Given the description of an element on the screen output the (x, y) to click on. 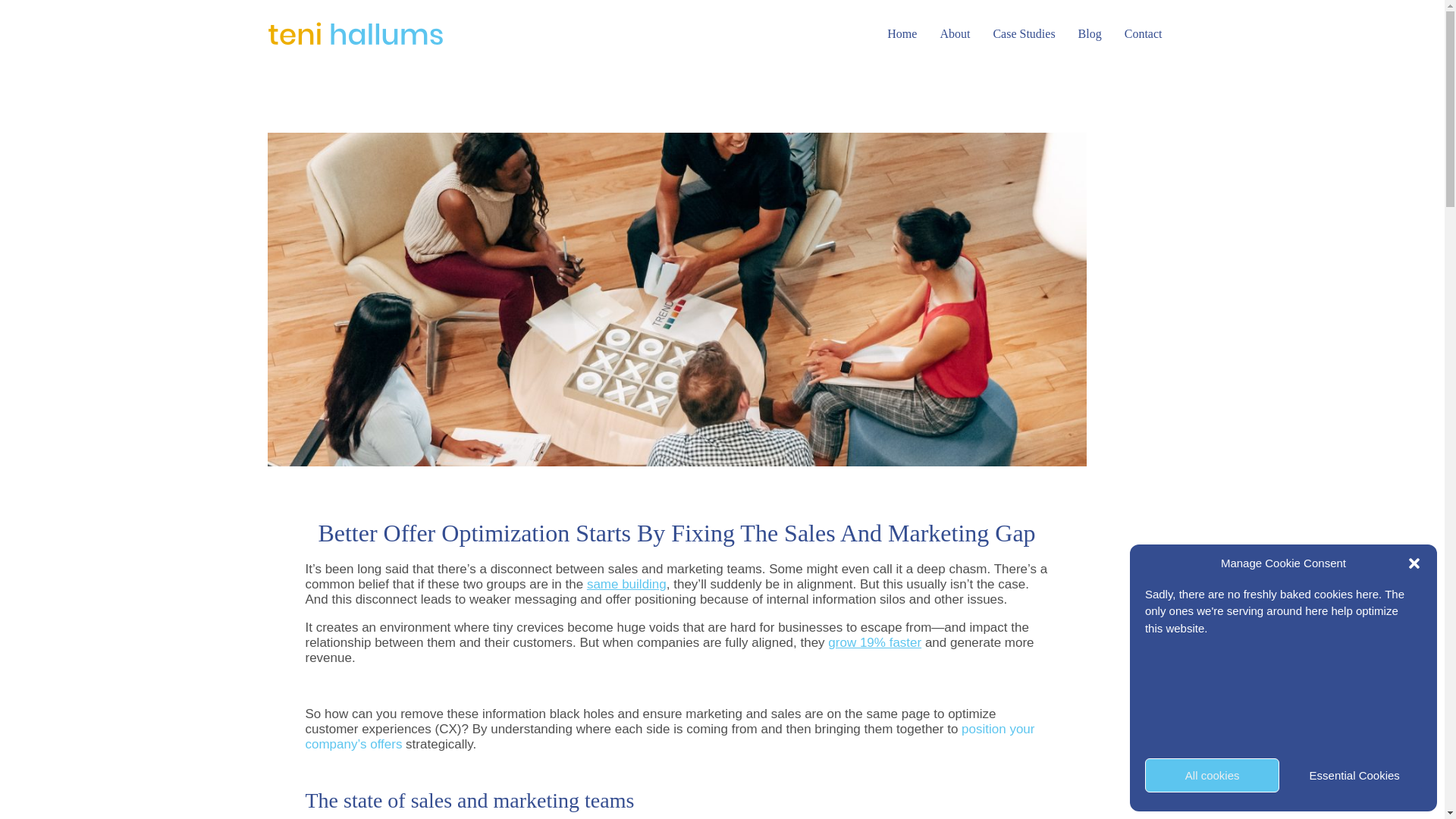
All cookies (1211, 775)
same building (626, 584)
Home (901, 34)
Essential Cookies (1354, 775)
Case Studies (1023, 34)
About (954, 34)
Contact (1142, 34)
Blog (1090, 34)
